Given the description of an element on the screen output the (x, y) to click on. 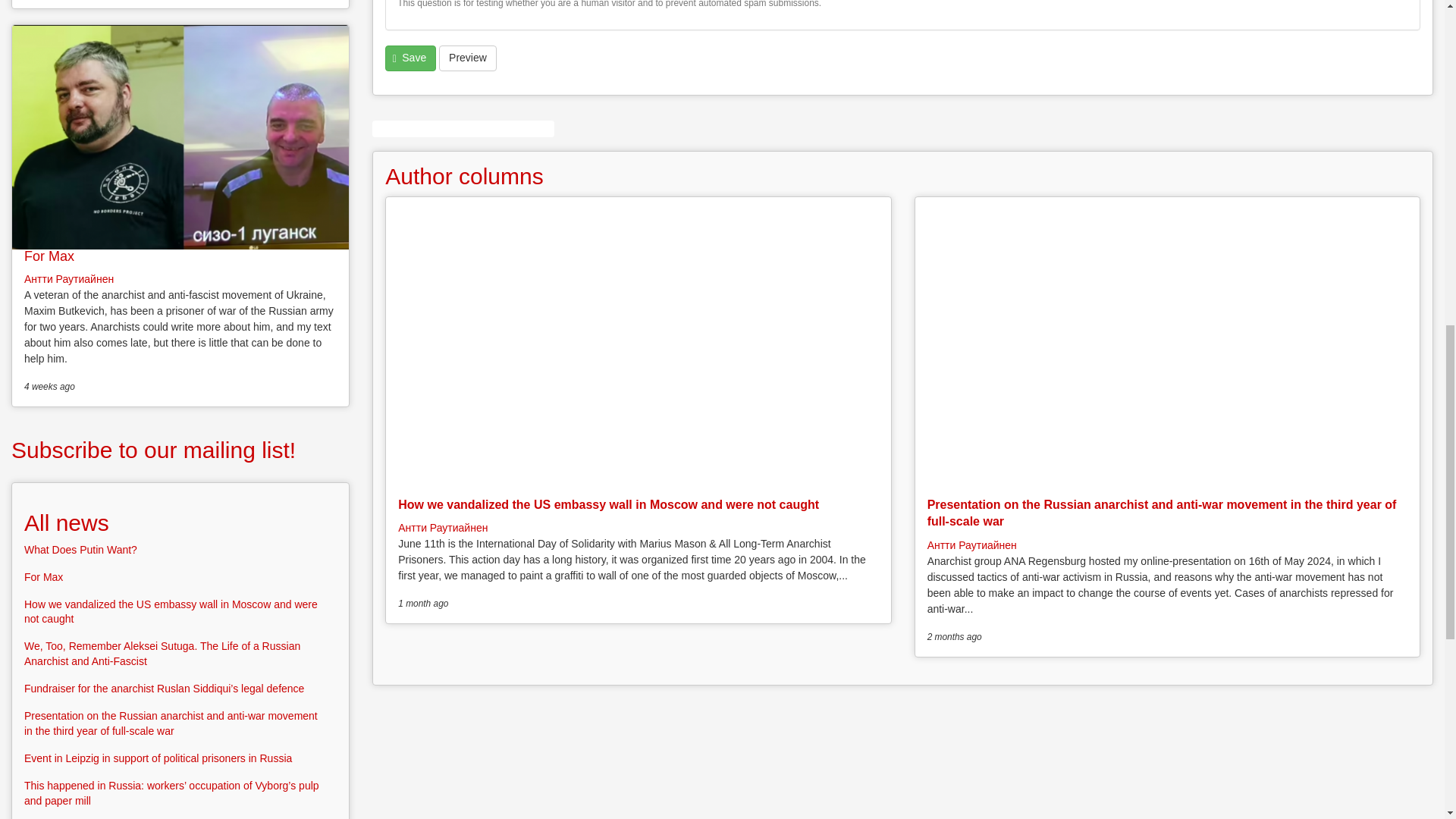
Author columns (464, 176)
Preview (467, 58)
Save (410, 58)
